Given the description of an element on the screen output the (x, y) to click on. 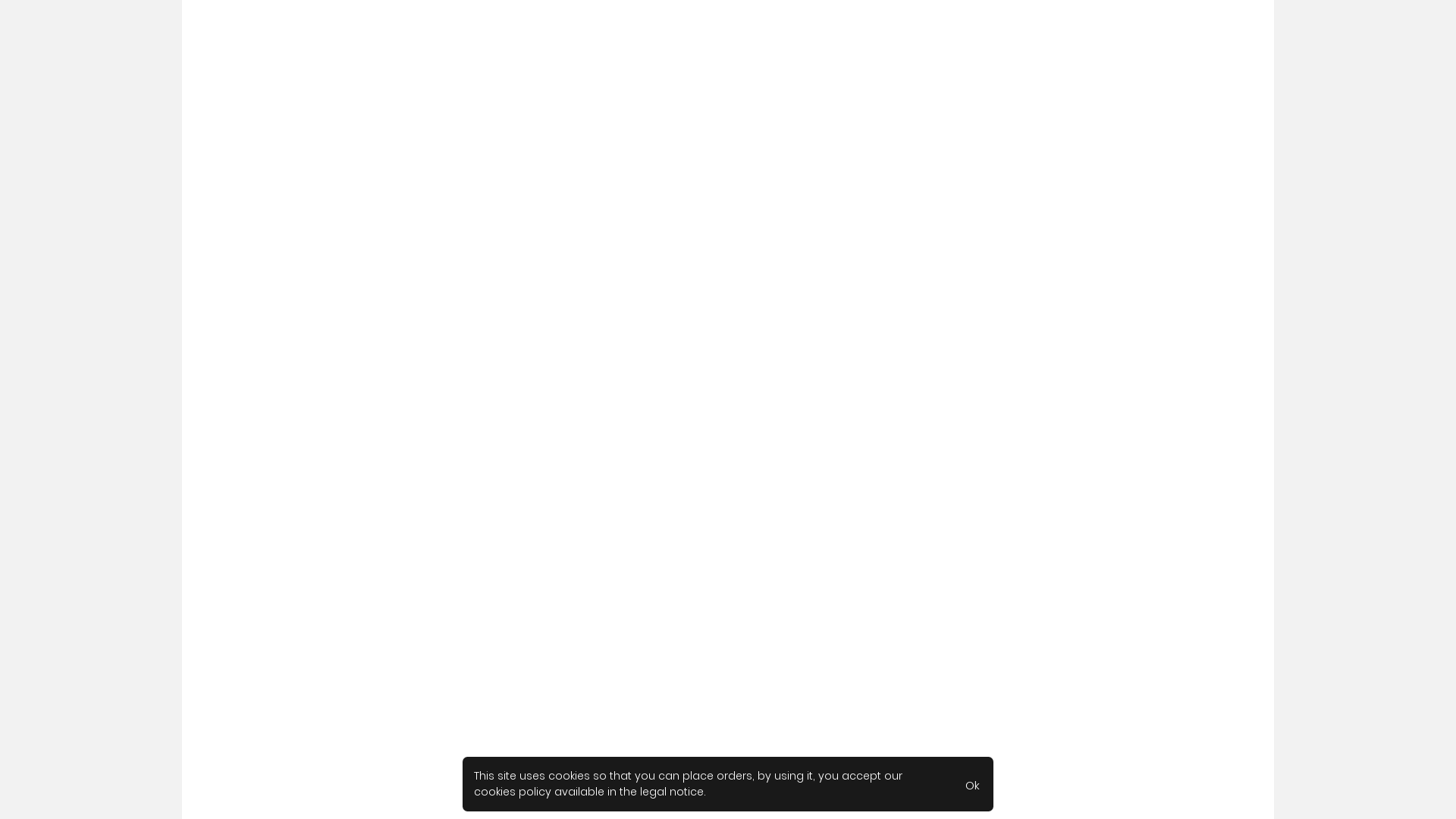
Ok Element type: text (972, 784)
